Given the description of an element on the screen output the (x, y) to click on. 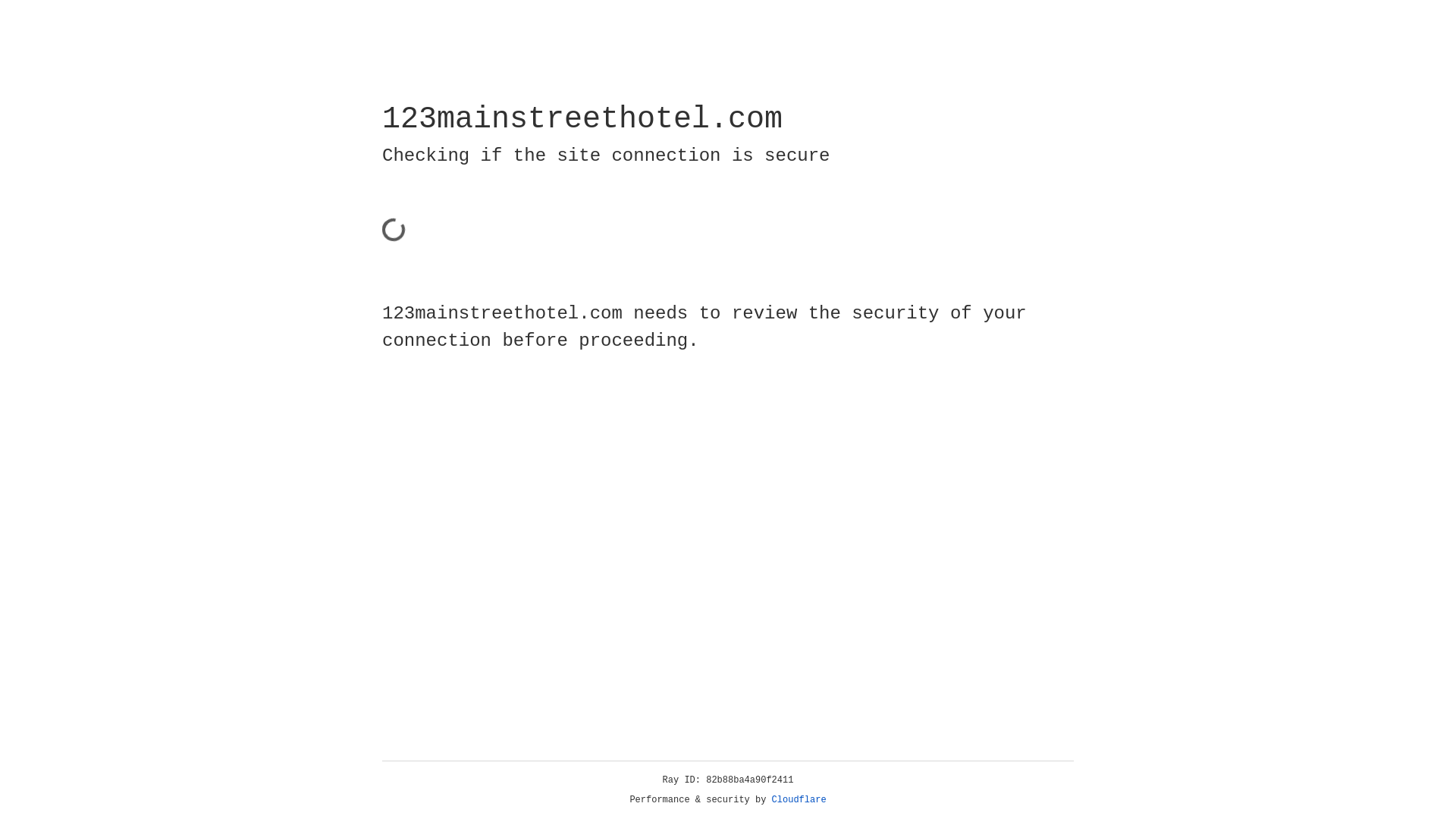
Cloudflare Element type: text (798, 799)
